Given the description of an element on the screen output the (x, y) to click on. 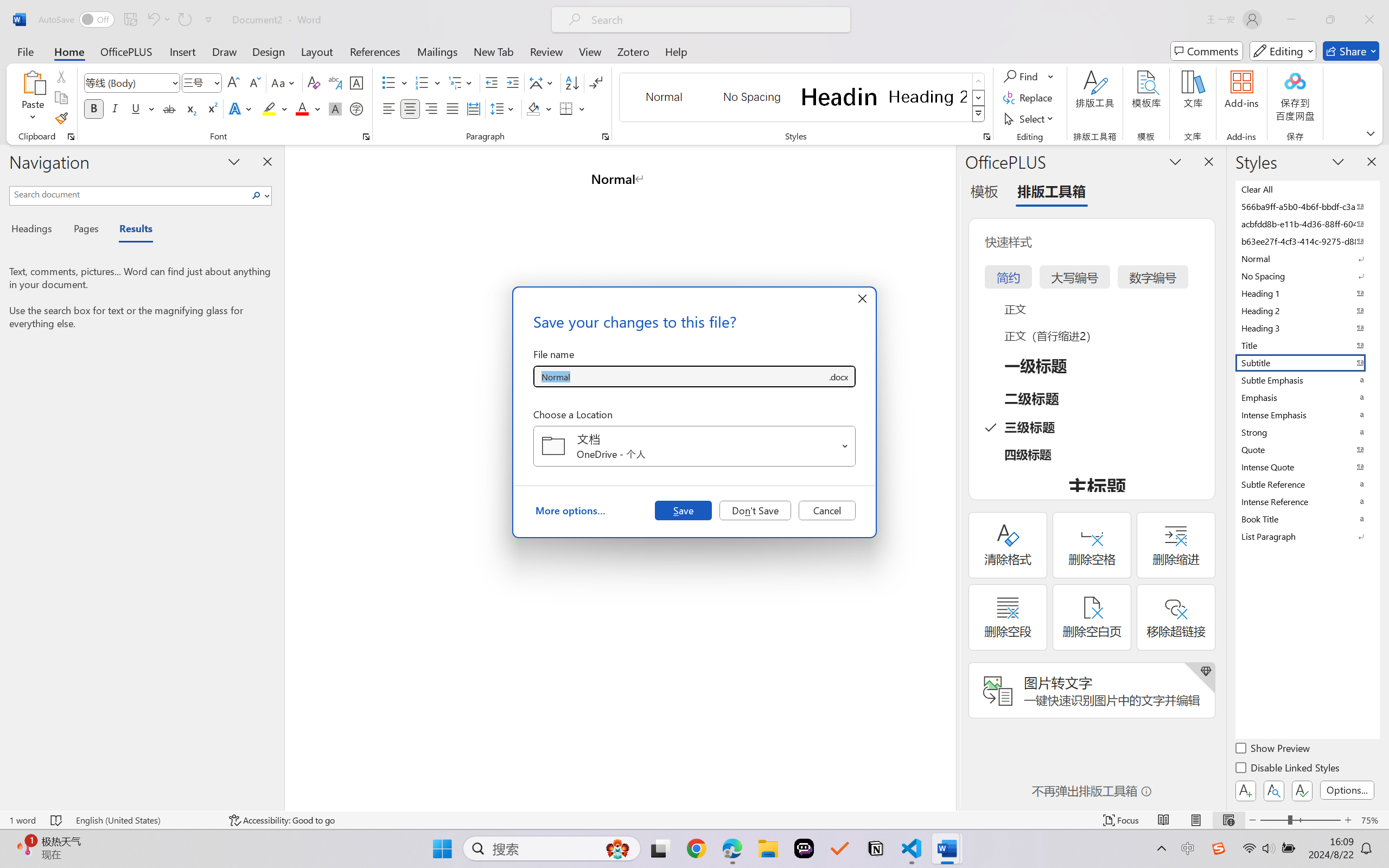
Title (1306, 345)
Undo Style (158, 19)
Word Count 1 word (21, 819)
Intense Emphasis (1306, 414)
Bold (94, 108)
Font Color Red (302, 108)
acbfdd8b-e11b-4d36-88ff-6049b138f862 (1306, 223)
